Given the description of an element on the screen output the (x, y) to click on. 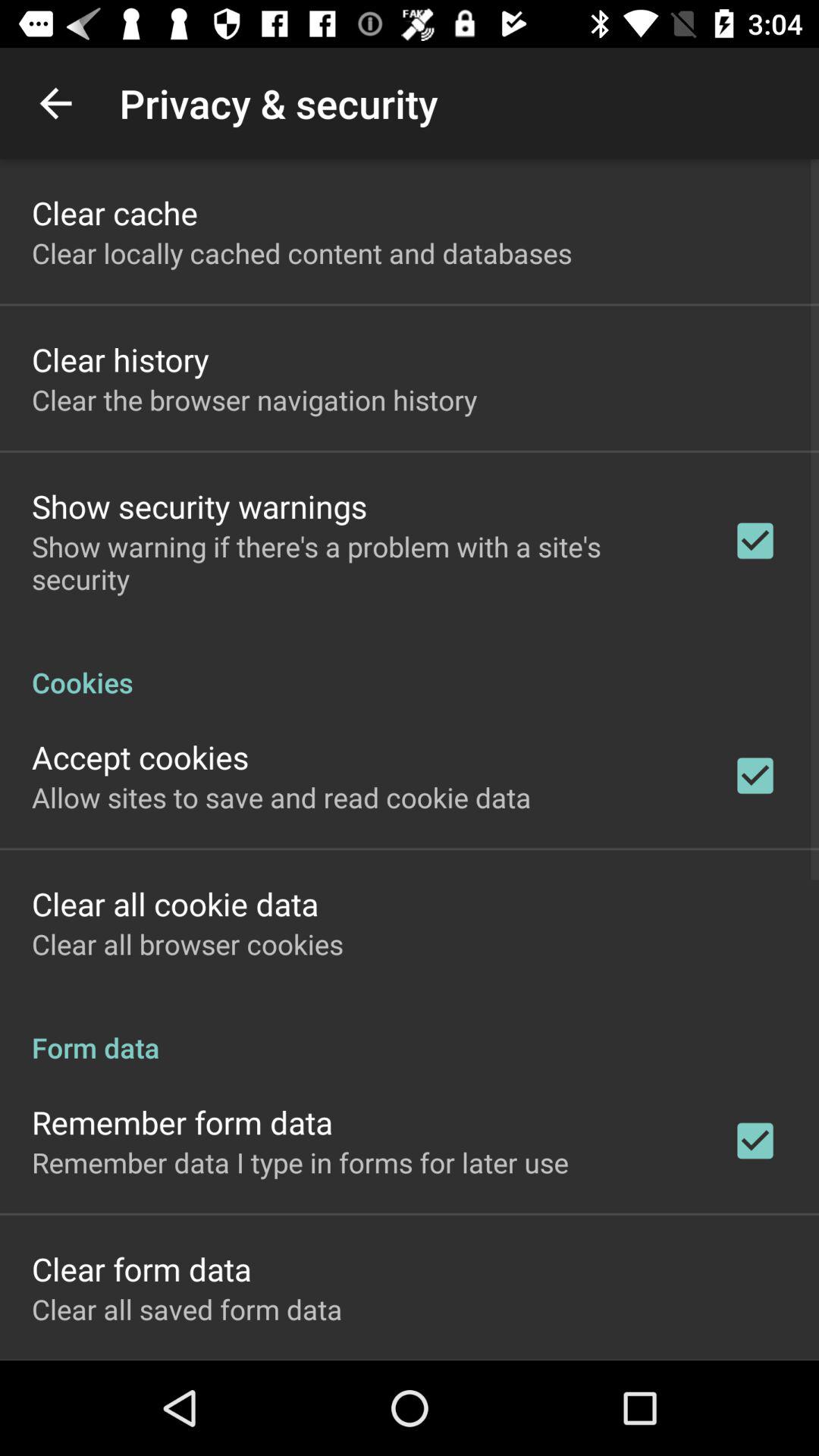
launch the accept cookies icon (140, 756)
